Given the description of an element on the screen output the (x, y) to click on. 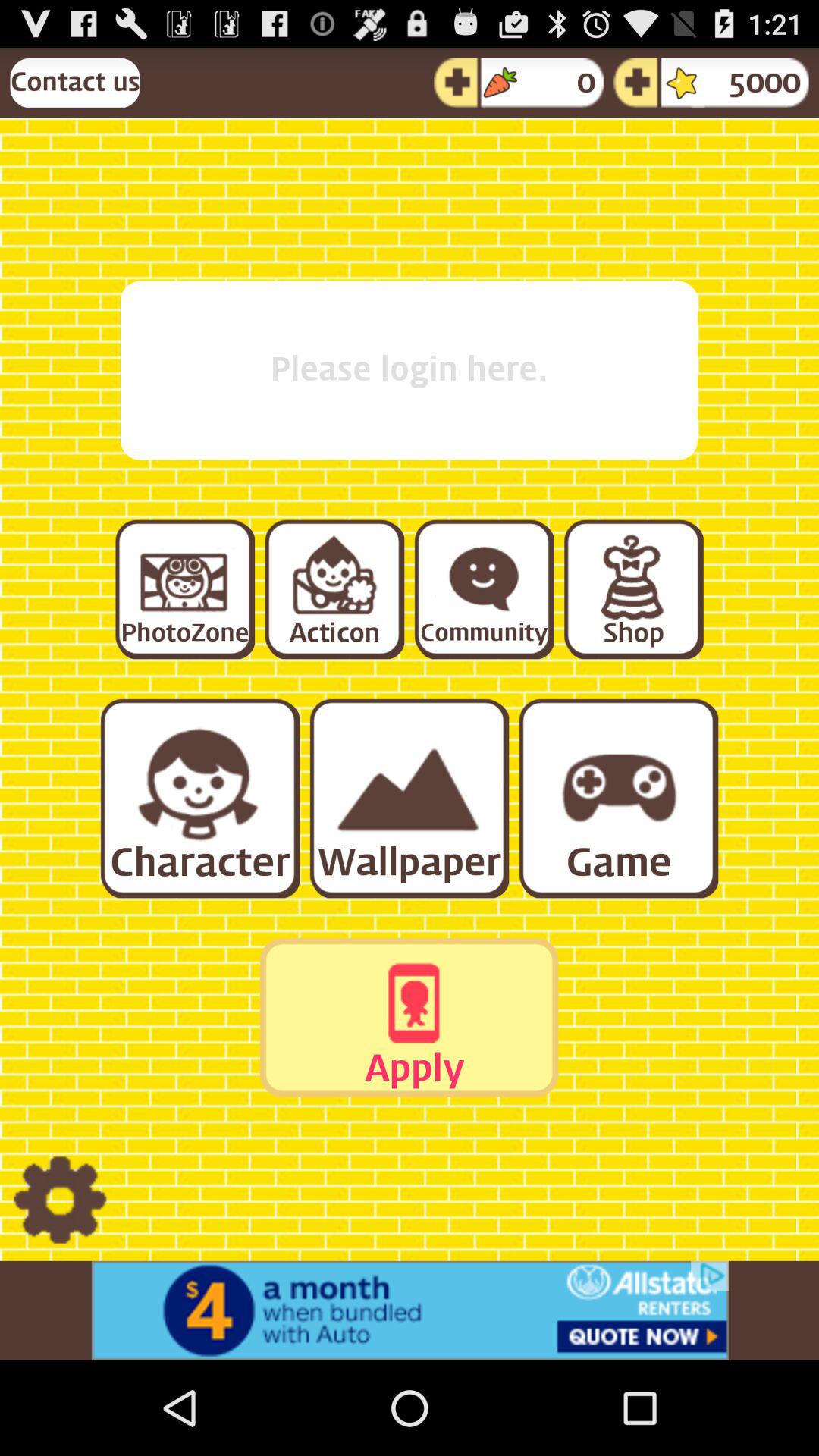
option (184, 588)
